Given the description of an element on the screen output the (x, y) to click on. 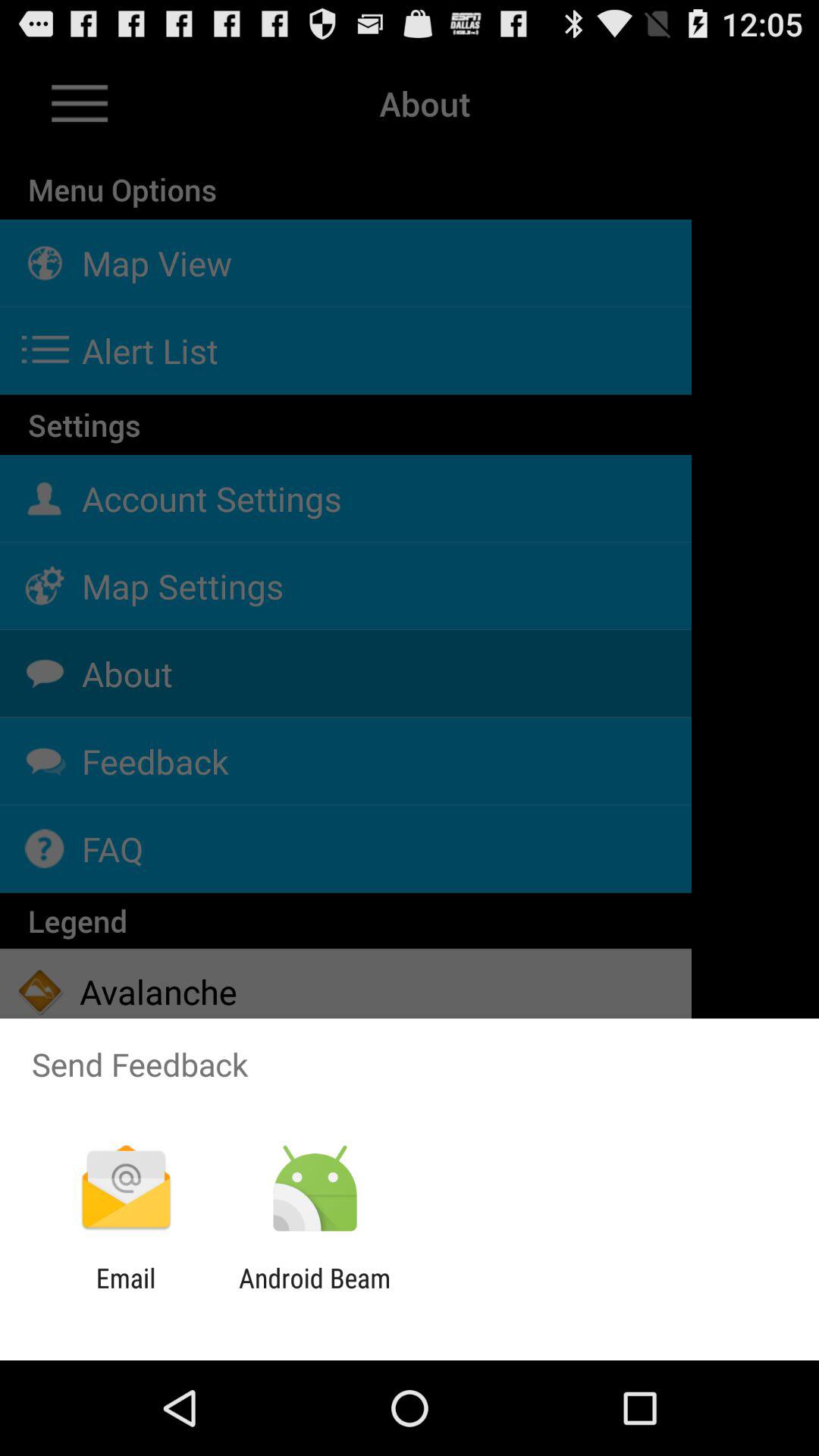
scroll until the android beam app (314, 1293)
